Given the description of an element on the screen output the (x, y) to click on. 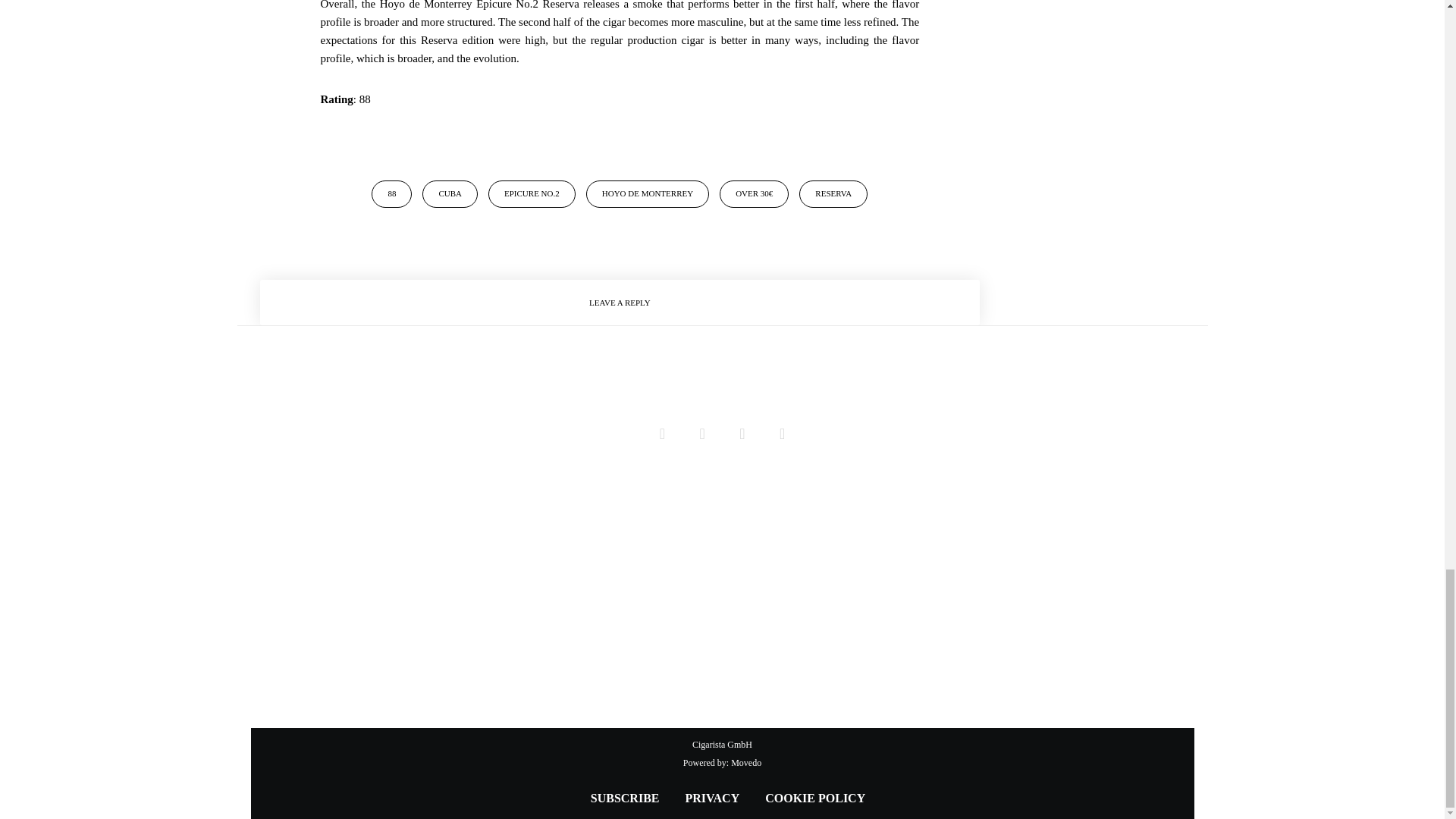
EPICURE NO.2 (531, 194)
RESERVA (833, 194)
HOYO DE MONTERREY (647, 194)
CUBA (449, 194)
88 (391, 194)
